Given the description of an element on the screen output the (x, y) to click on. 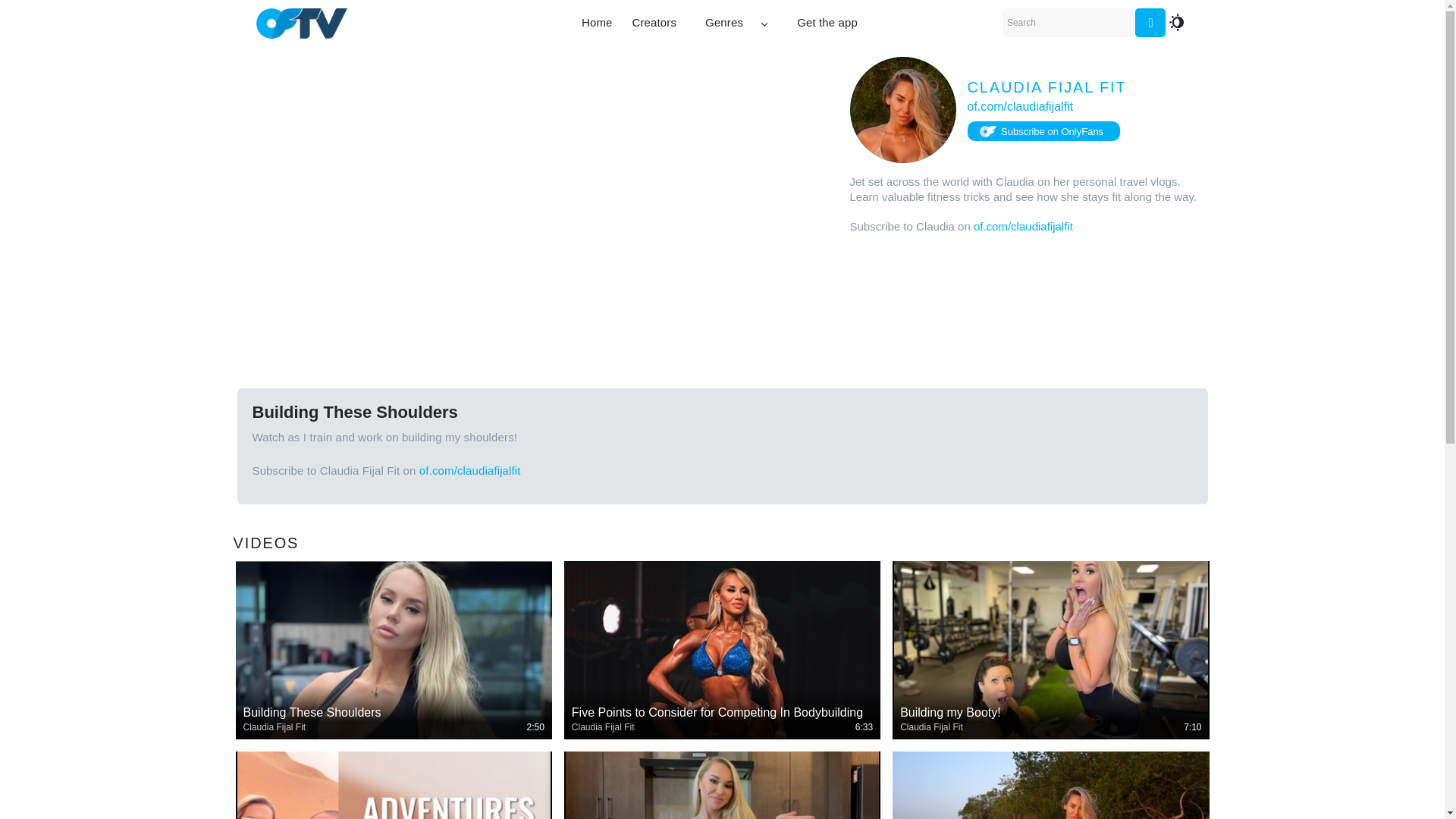
Five Points to Consider for Competing In Bodybuilding (722, 720)
Claudia Fijal Fit (930, 726)
Claudia Fijal Fit (274, 726)
Creators (654, 22)
creators (654, 22)
home (597, 22)
toggle dark mode (1177, 21)
Genres (736, 22)
Building my Booty! (1050, 712)
Get the app (827, 22)
